Given the description of an element on the screen output the (x, y) to click on. 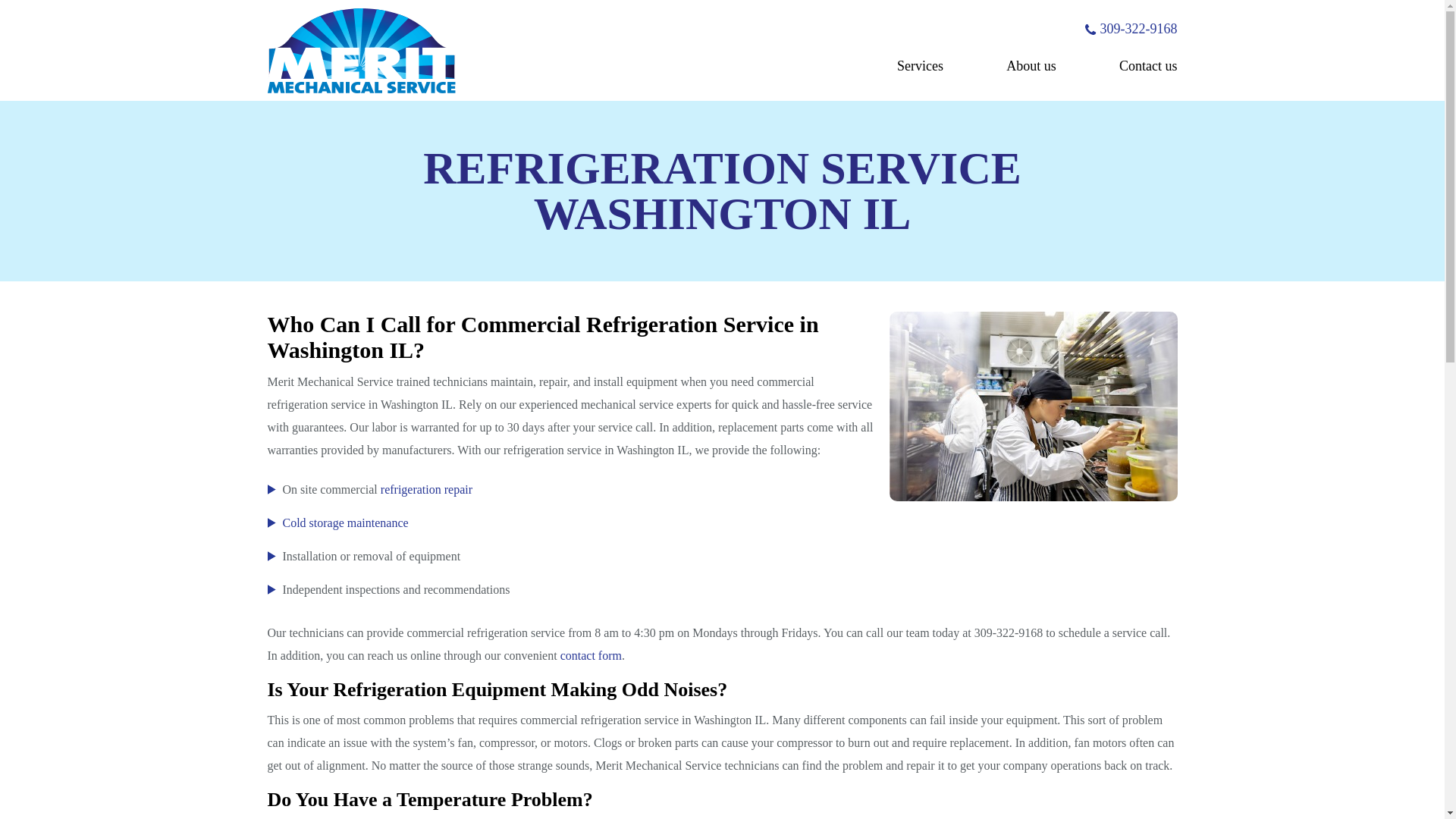
contact form (590, 655)
Services (919, 65)
Cold storage maintenance (344, 522)
Contact us (1148, 65)
refrigeration repair (425, 489)
About us (1031, 65)
309-322-9168 (1130, 28)
